Given the description of an element on the screen output the (x, y) to click on. 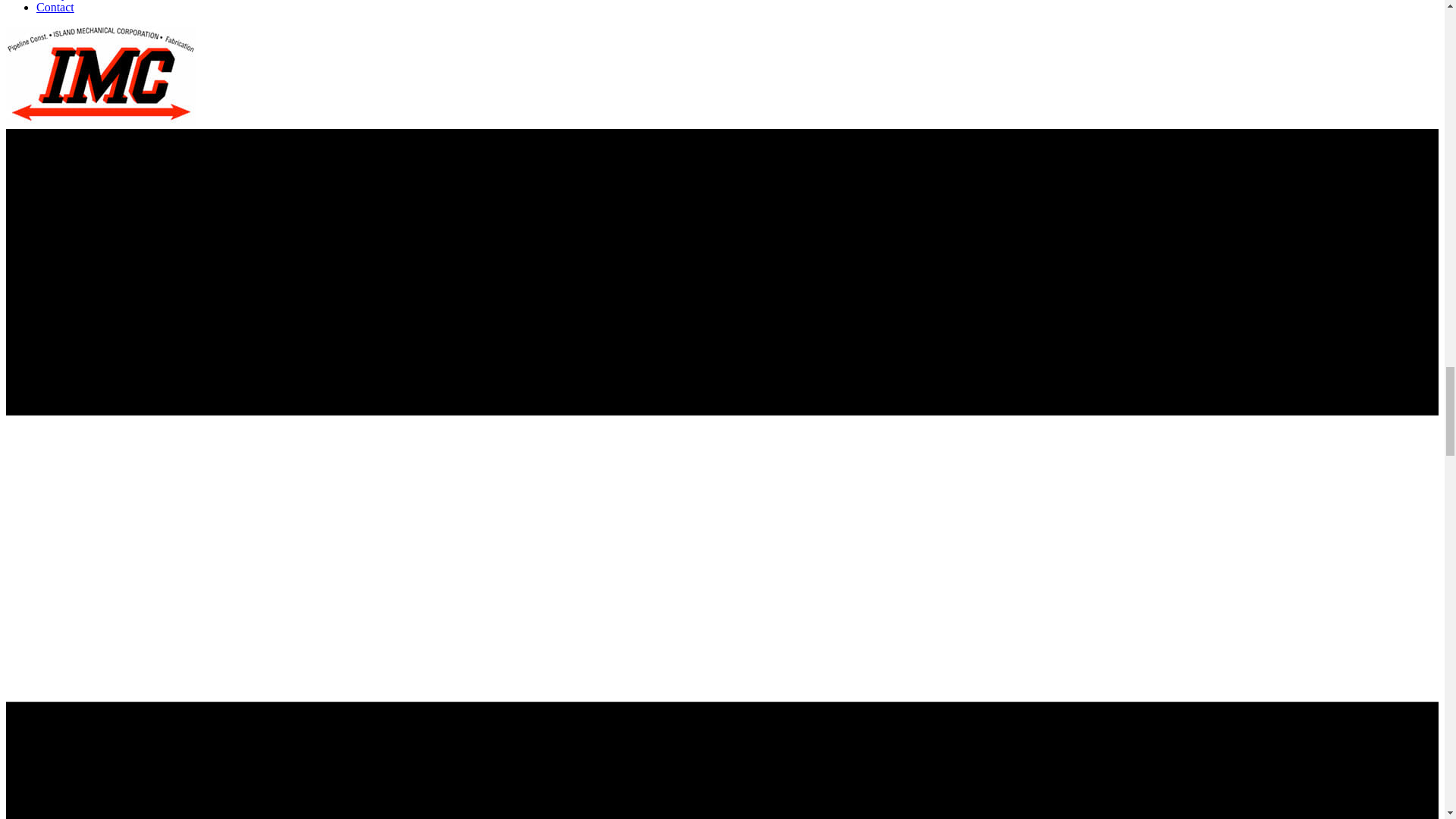
Contact (55, 6)
Island mechanical Logo (100, 76)
